Given the description of an element on the screen output the (x, y) to click on. 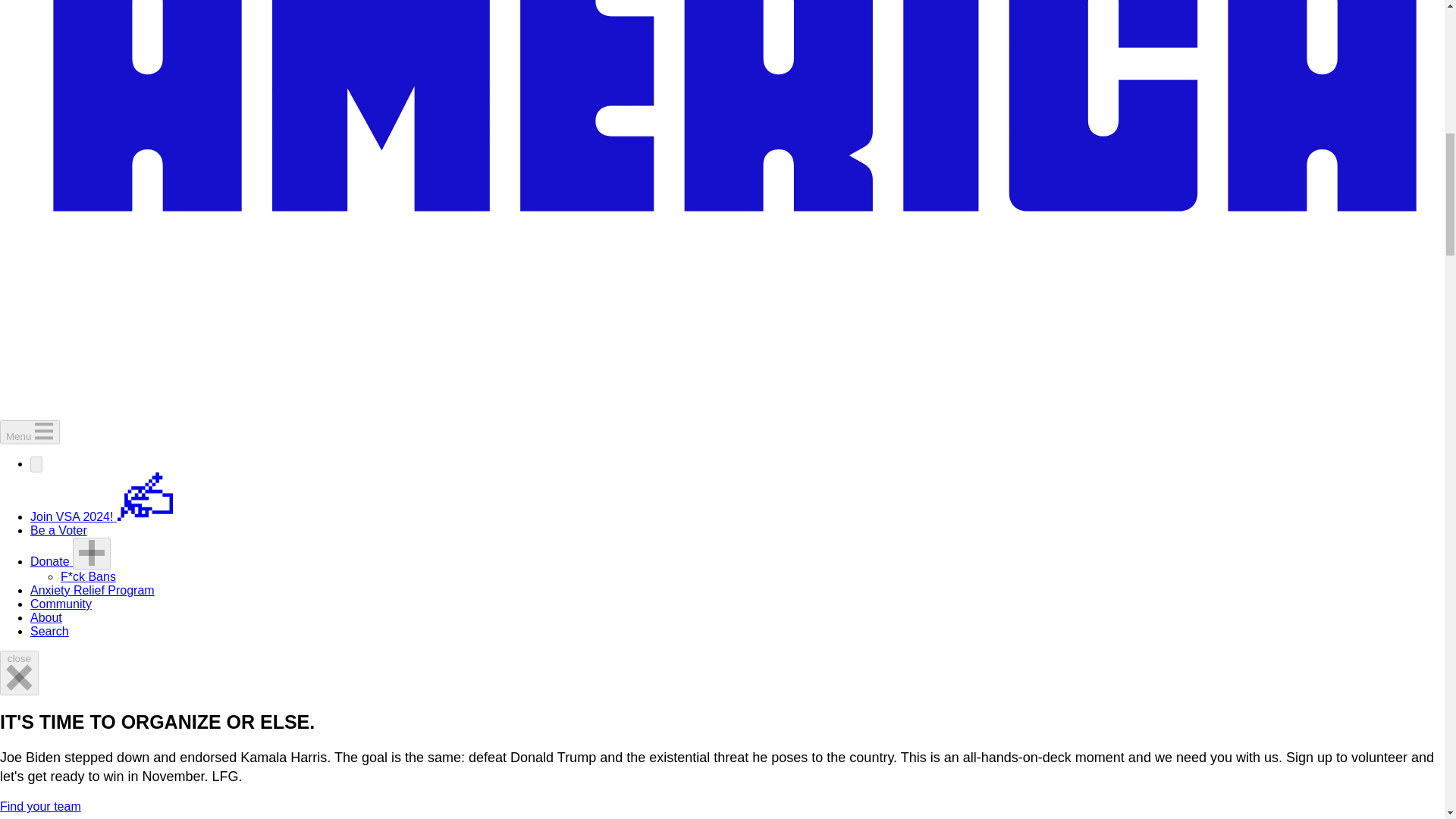
About (46, 617)
Menu (29, 432)
Search (49, 631)
Donate (51, 561)
Find your team (40, 806)
Community (60, 603)
Anxiety Relief Program (92, 590)
Be a Voter (58, 530)
Join VSA 2024! (101, 516)
